Given the description of an element on the screen output the (x, y) to click on. 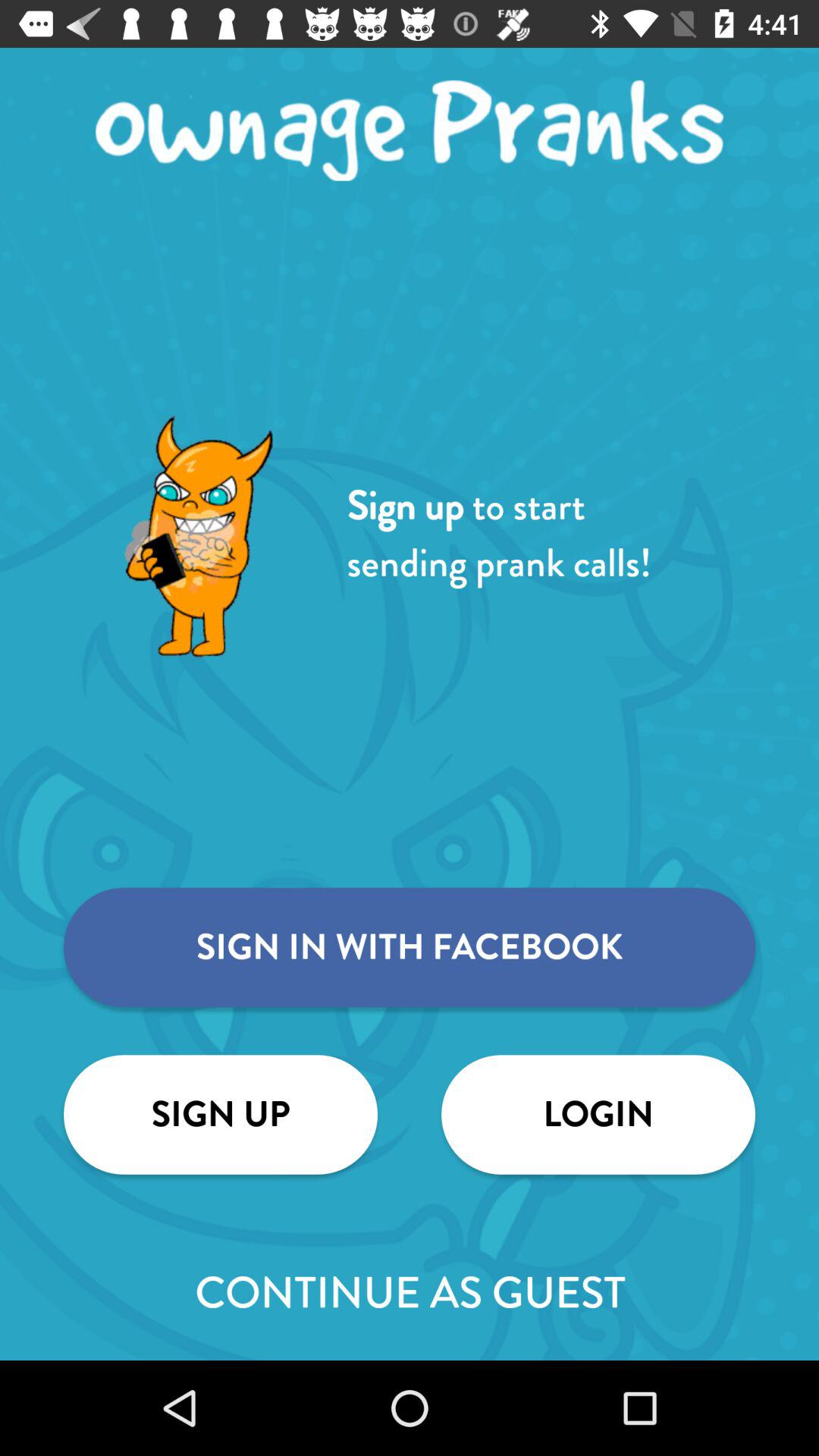
open item at the bottom right corner (598, 1114)
